Given the description of an element on the screen output the (x, y) to click on. 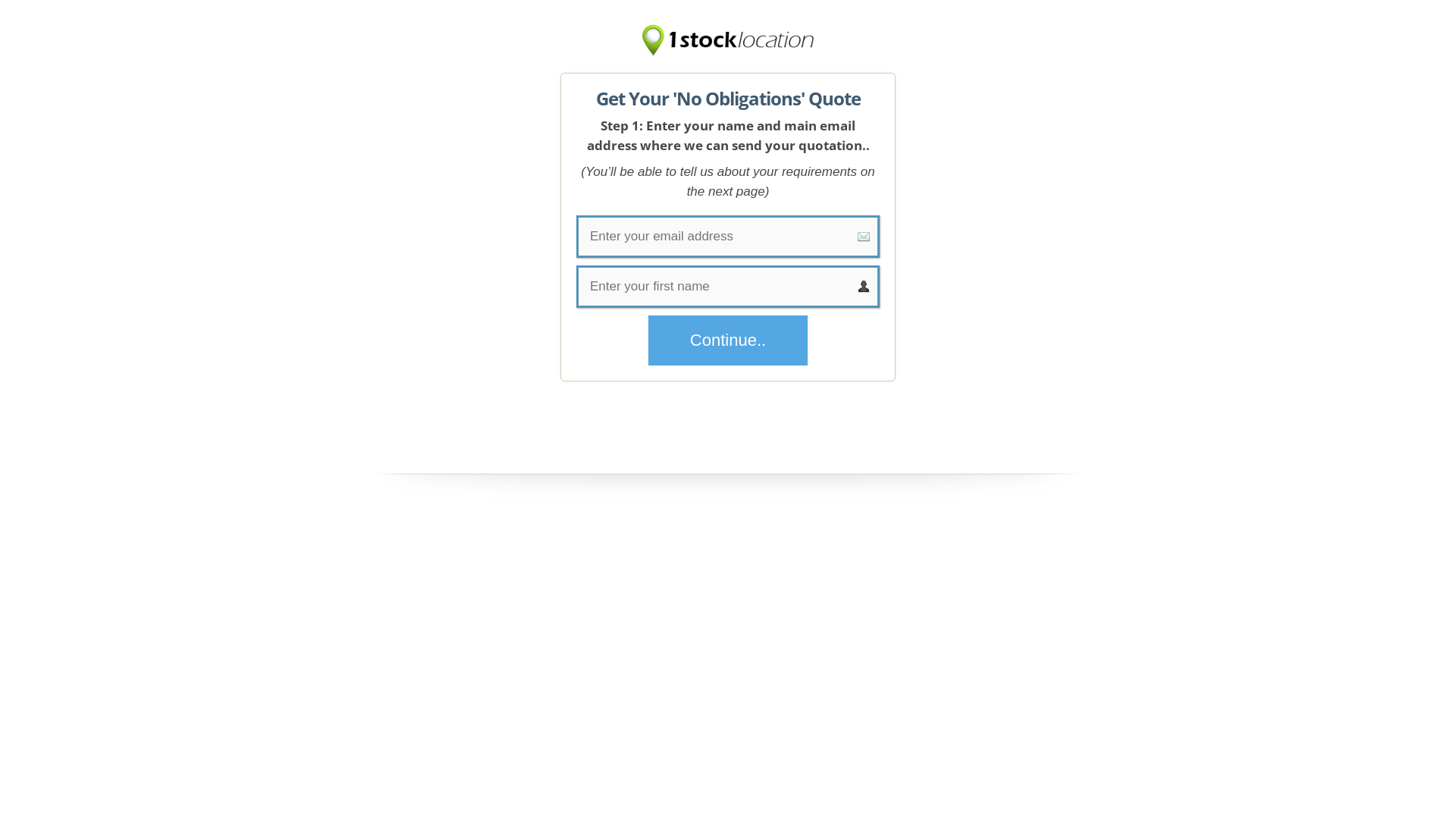
Continue.. Element type: text (727, 340)
